Given the description of an element on the screen output the (x, y) to click on. 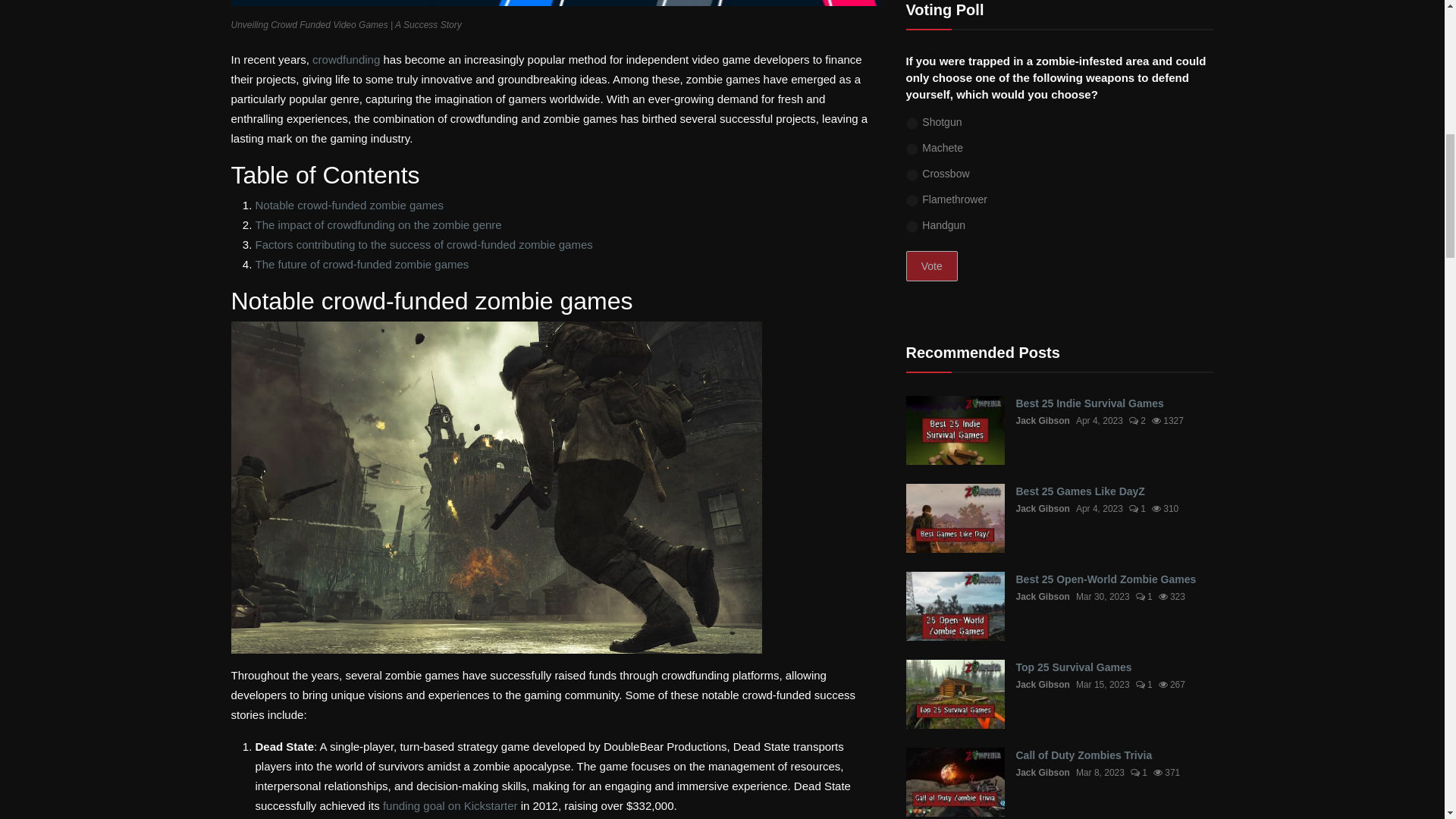
kickstarters-role-most-funded-video-games (450, 805)
